Given the description of an element on the screen output the (x, y) to click on. 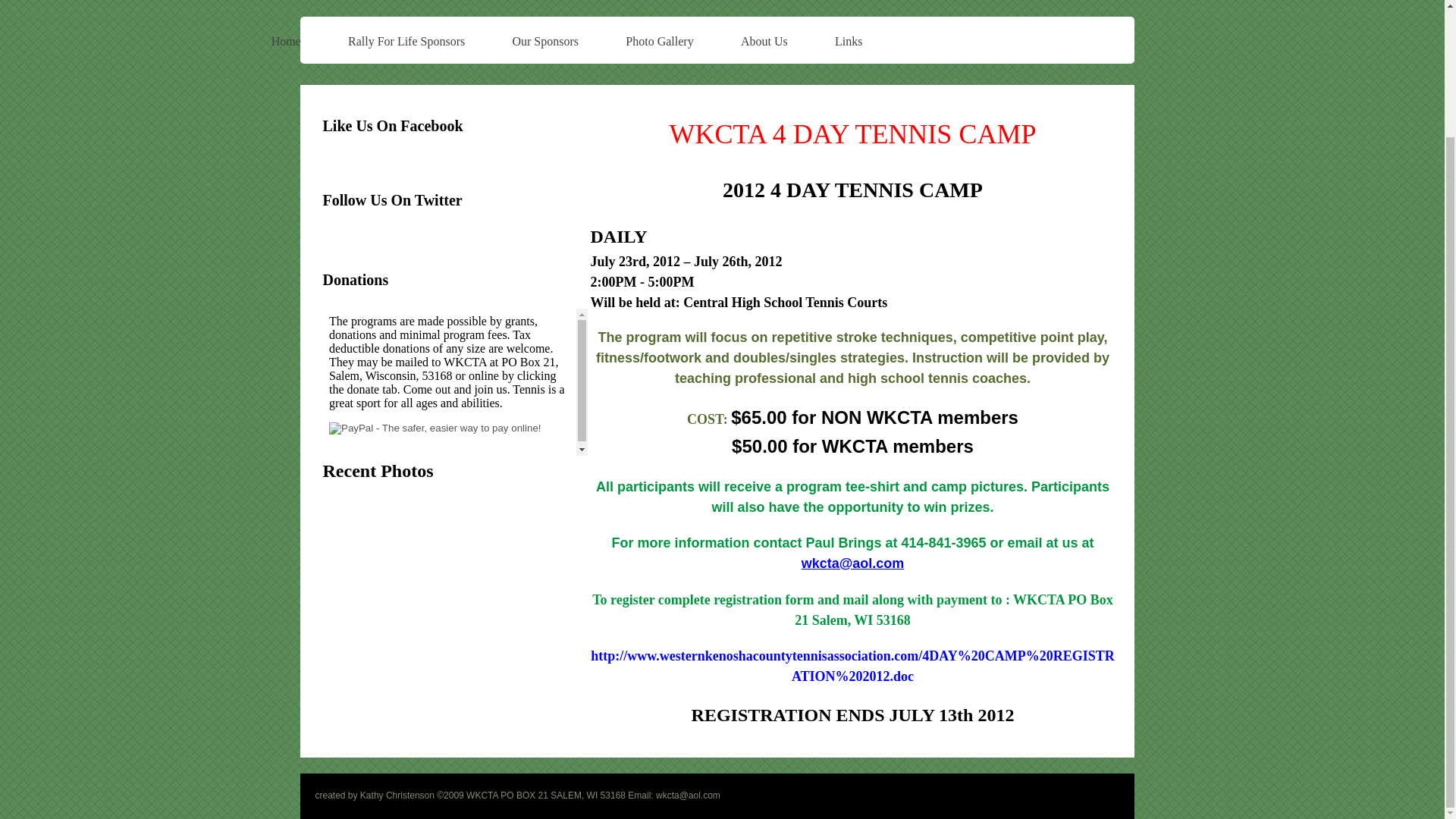
About Us (763, 41)
Photo Gallery (659, 41)
Links (848, 41)
Home (285, 41)
Our Sponsors (544, 41)
Embedded Content (454, 174)
Embedded Content (455, 381)
Embedded Content (356, 251)
Rally For Life Sponsors (405, 41)
